Given the description of an element on the screen output the (x, y) to click on. 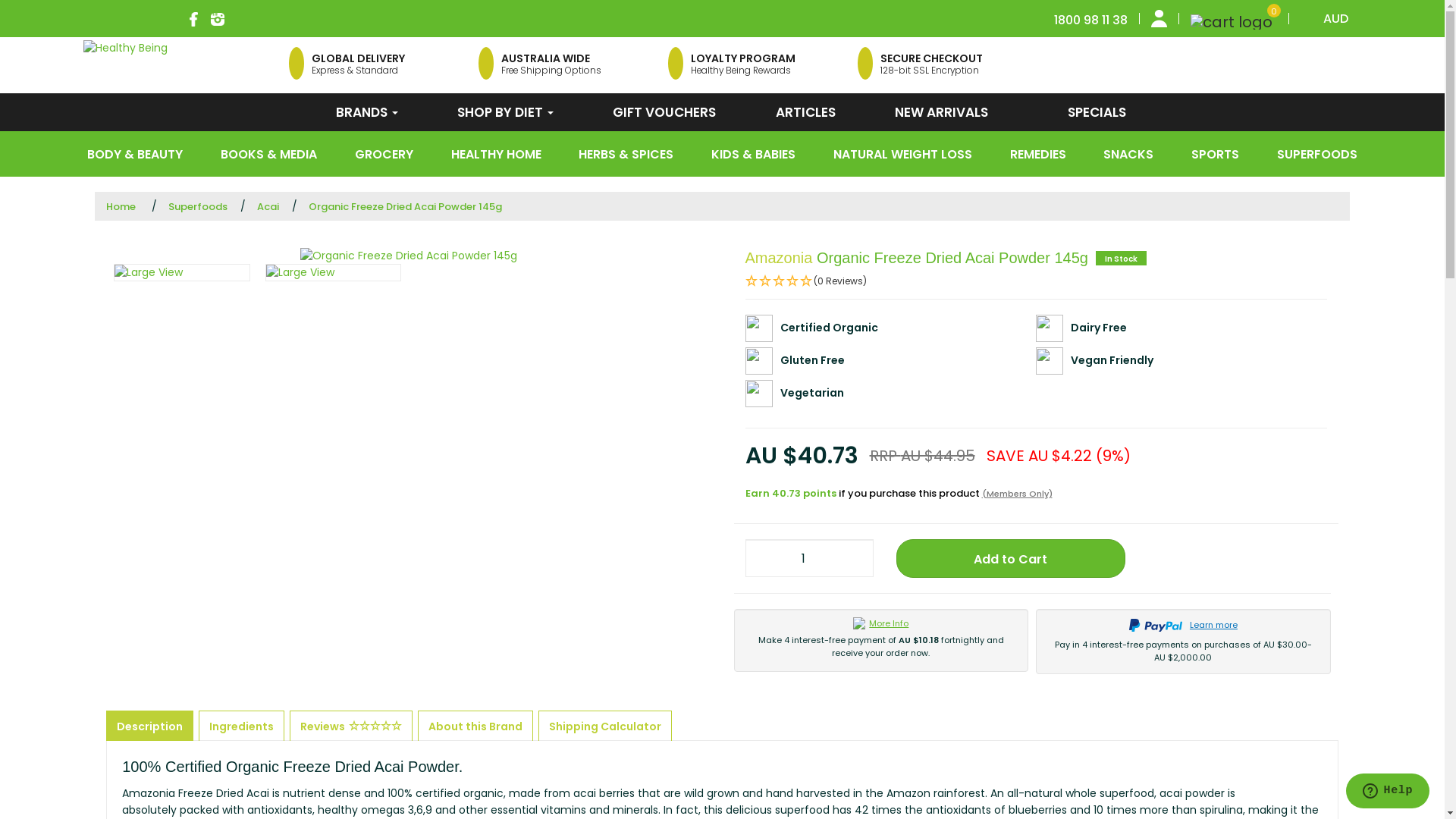
BODY & BEAUTY Element type: text (134, 154)
Home Element type: text (120, 205)
HEALTHY HOME Element type: text (495, 154)
SHOP BY DIET Element type: text (505, 112)
HERBS & SPICES Element type: text (625, 154)
AUD Element type: text (1330, 18)
SPECIALS Element type: text (1077, 112)
Amazonia Element type: text (778, 257)
Description Element type: text (149, 725)
REMEDIES Element type: text (1038, 154)
GLOBAL DELIVERY
Express & Standard Element type: text (346, 62)
Ingredients Element type: text (241, 725)
SPORTS Element type: text (1215, 154)
BOOKS & MEDIA Element type: text (268, 154)
Large View Element type: hover (181, 272)
0 Element type: text (1233, 18)
Reviews Element type: text (350, 725)
NEW ARRIVALS Element type: text (941, 112)
Australian Health Food Store  Element type: hover (125, 47)
About this Brand Element type: text (475, 725)
1800 98 11 38 Element type: text (1090, 18)
More Info Element type: text (880, 623)
Add to Cart Element type: text (1010, 558)
Superfoods Element type: text (197, 205)
Organic Freeze Dried Acai Powder 145g Element type: text (405, 205)
LOYALTY PROGRAM
Healthy Being Rewards Element type: text (731, 62)
Large View Element type: hover (333, 272)
SNACKS Element type: text (1128, 154)
AUSTRALIA WIDE
Free Shipping Options Element type: text (539, 62)
GROCERY Element type: text (383, 154)
KIDS & BABIES Element type: text (753, 154)
GIFT VOUCHERS Element type: text (663, 112)
(Members Only) Element type: text (1016, 493)
BRANDS Element type: text (366, 112)
ARTICLES Element type: text (805, 112)
NATURAL WEIGHT LOSS Element type: text (902, 154)
Opens a widget where you can chat to one of our agents Element type: hover (1387, 792)
Shipping Calculator Element type: text (604, 725)
Acai Element type: text (268, 205)
SUPERFOODS Element type: text (1317, 154)
